Given the description of an element on the screen output the (x, y) to click on. 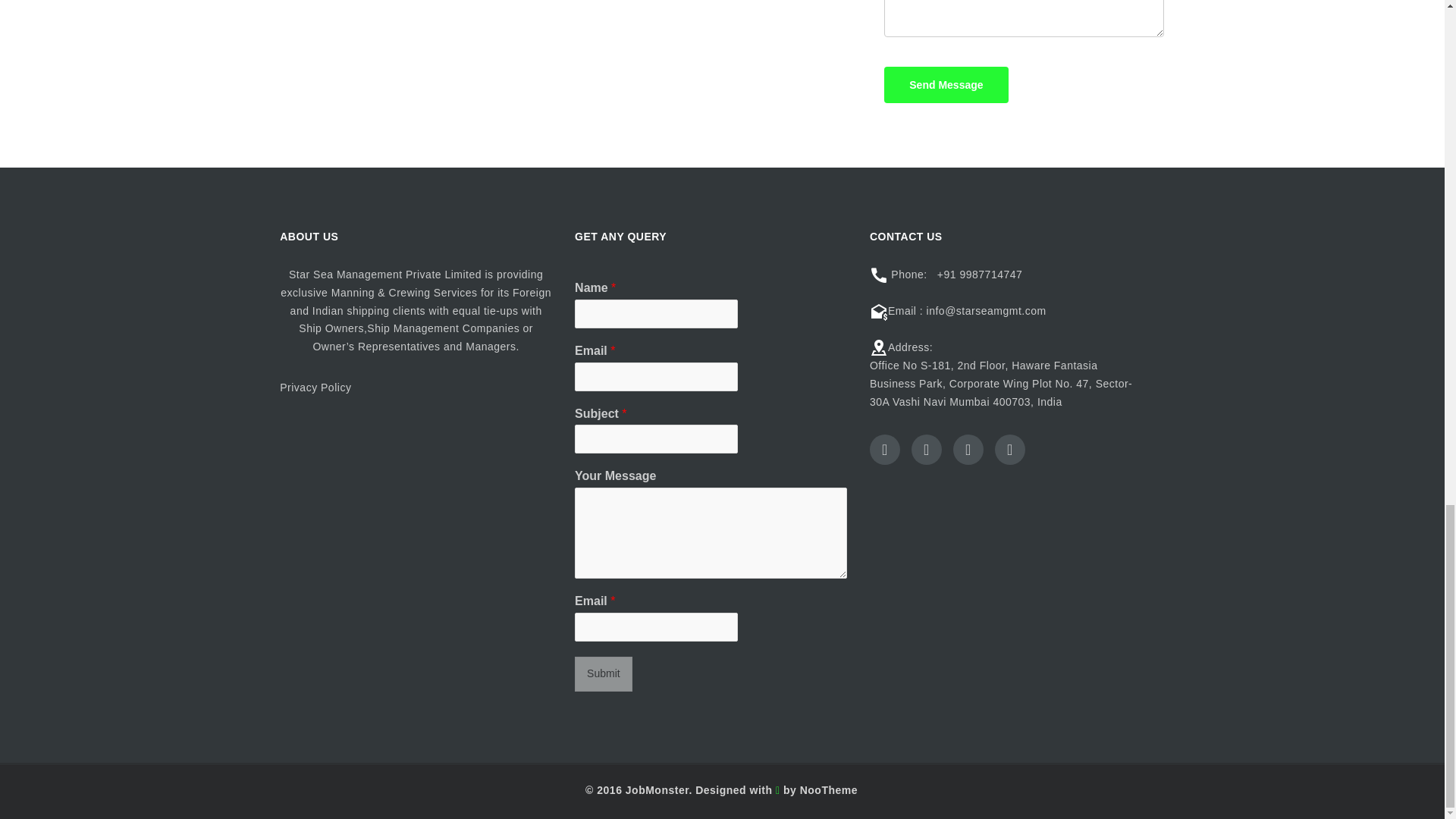
Send Message (945, 84)
